Given the description of an element on the screen output the (x, y) to click on. 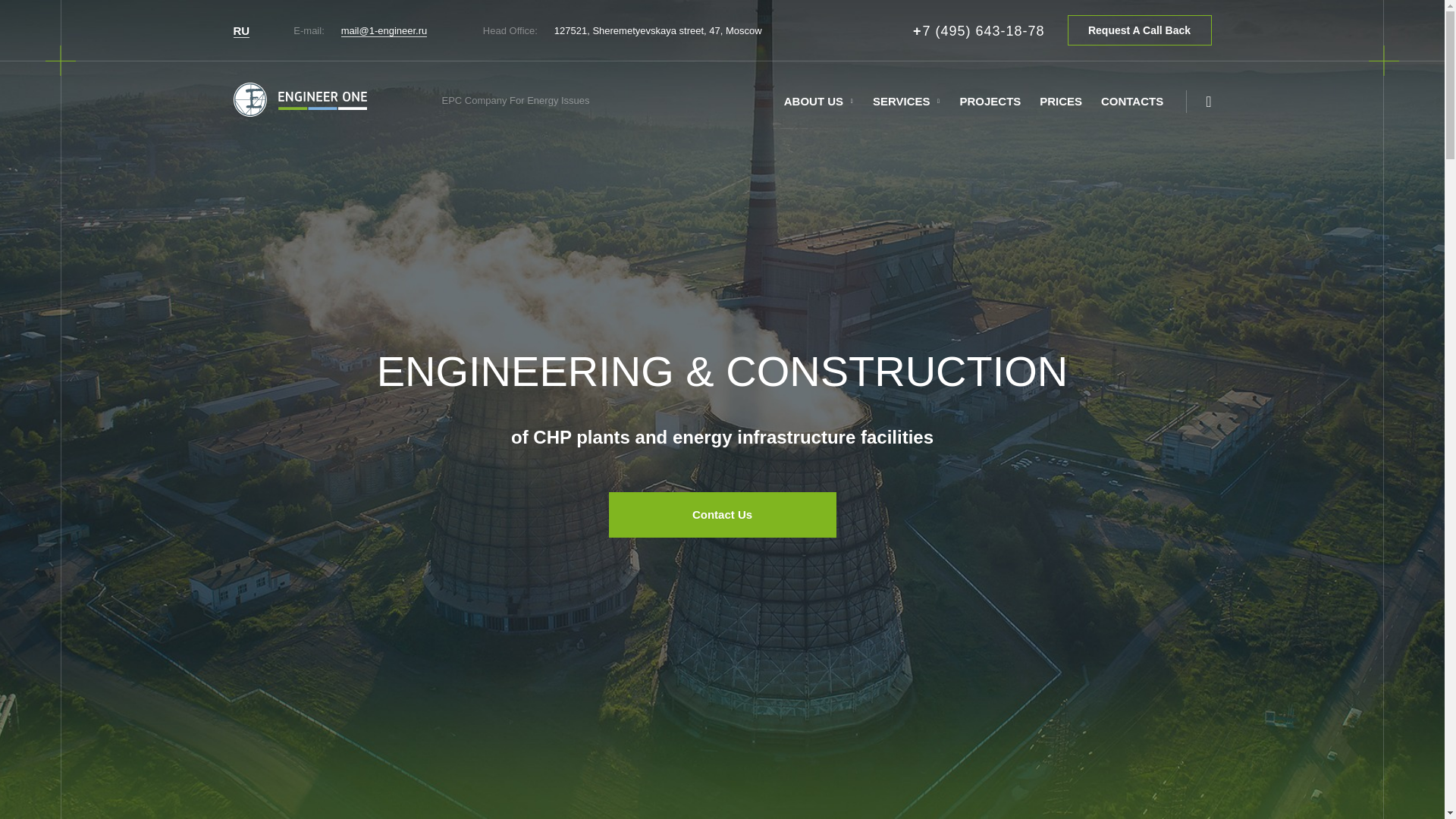
PRICES (1060, 101)
RU (241, 30)
PROJECTS (989, 101)
Contact Us (721, 514)
SERVICES (901, 101)
ABOUT US (813, 101)
CONTACTS (1131, 101)
Request A Call Back (1139, 30)
